Given the description of an element on the screen output the (x, y) to click on. 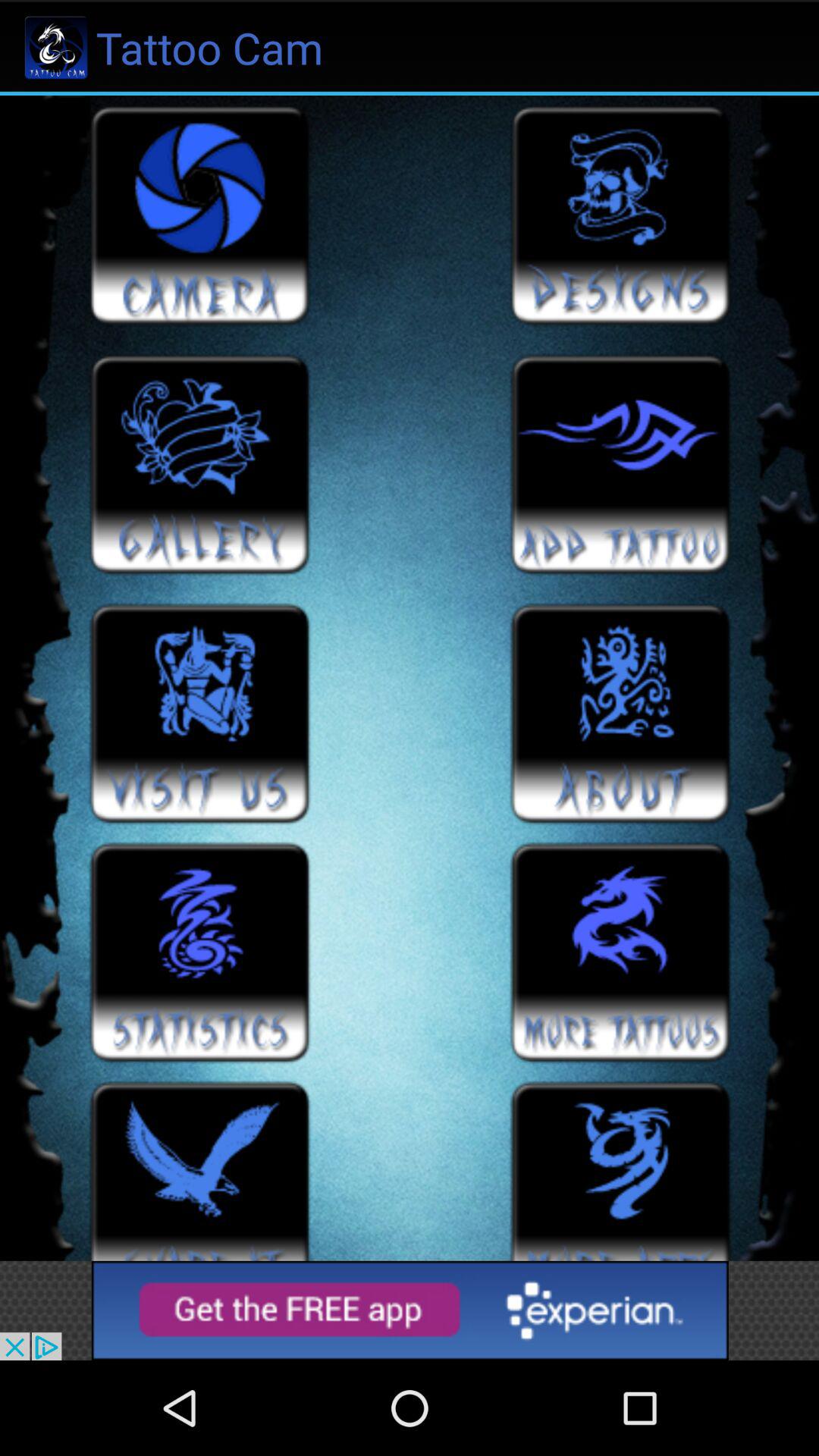
go to advertisement (409, 1310)
